Given the description of an element on the screen output the (x, y) to click on. 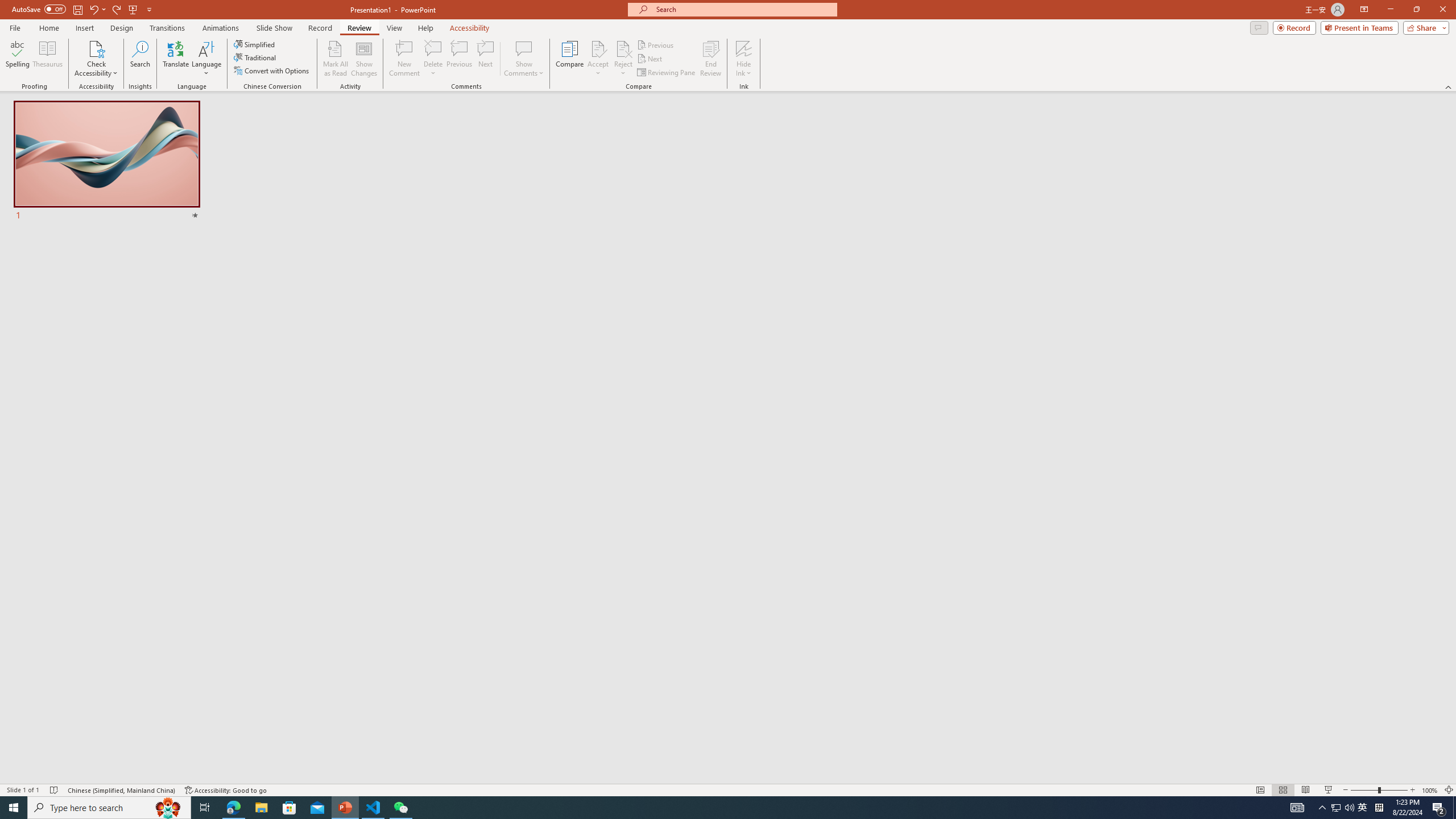
Convert with Options... (272, 69)
Mark All as Read (335, 58)
Simplified (254, 44)
Thesaurus... (47, 58)
